Given the description of an element on the screen output the (x, y) to click on. 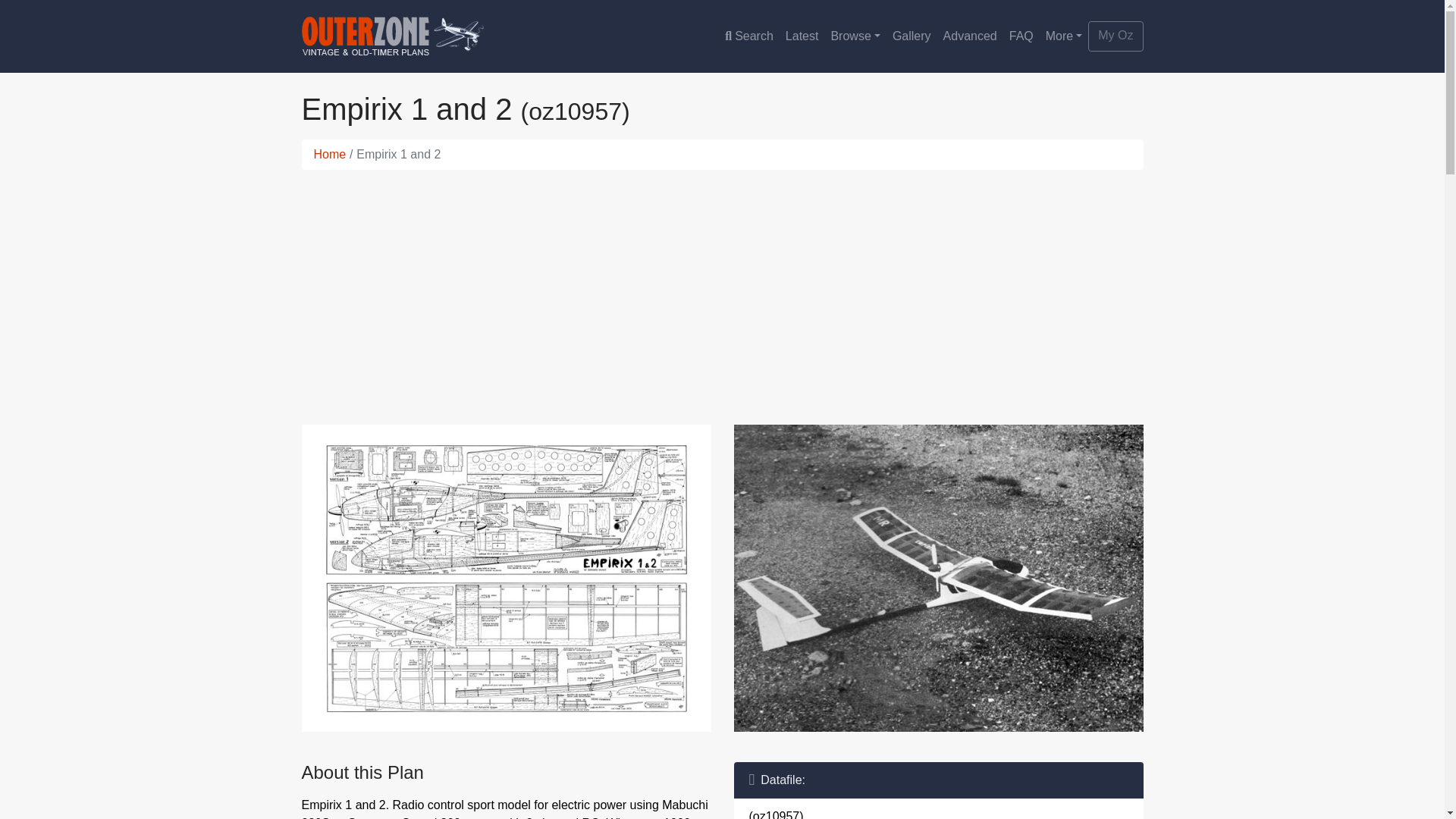
Search (748, 36)
FAQ (1021, 36)
More (1064, 36)
Browse (854, 36)
Latest (801, 36)
Advanced (970, 36)
My Oz (1114, 36)
Home (330, 154)
Gallery (911, 36)
